Given the description of an element on the screen output the (x, y) to click on. 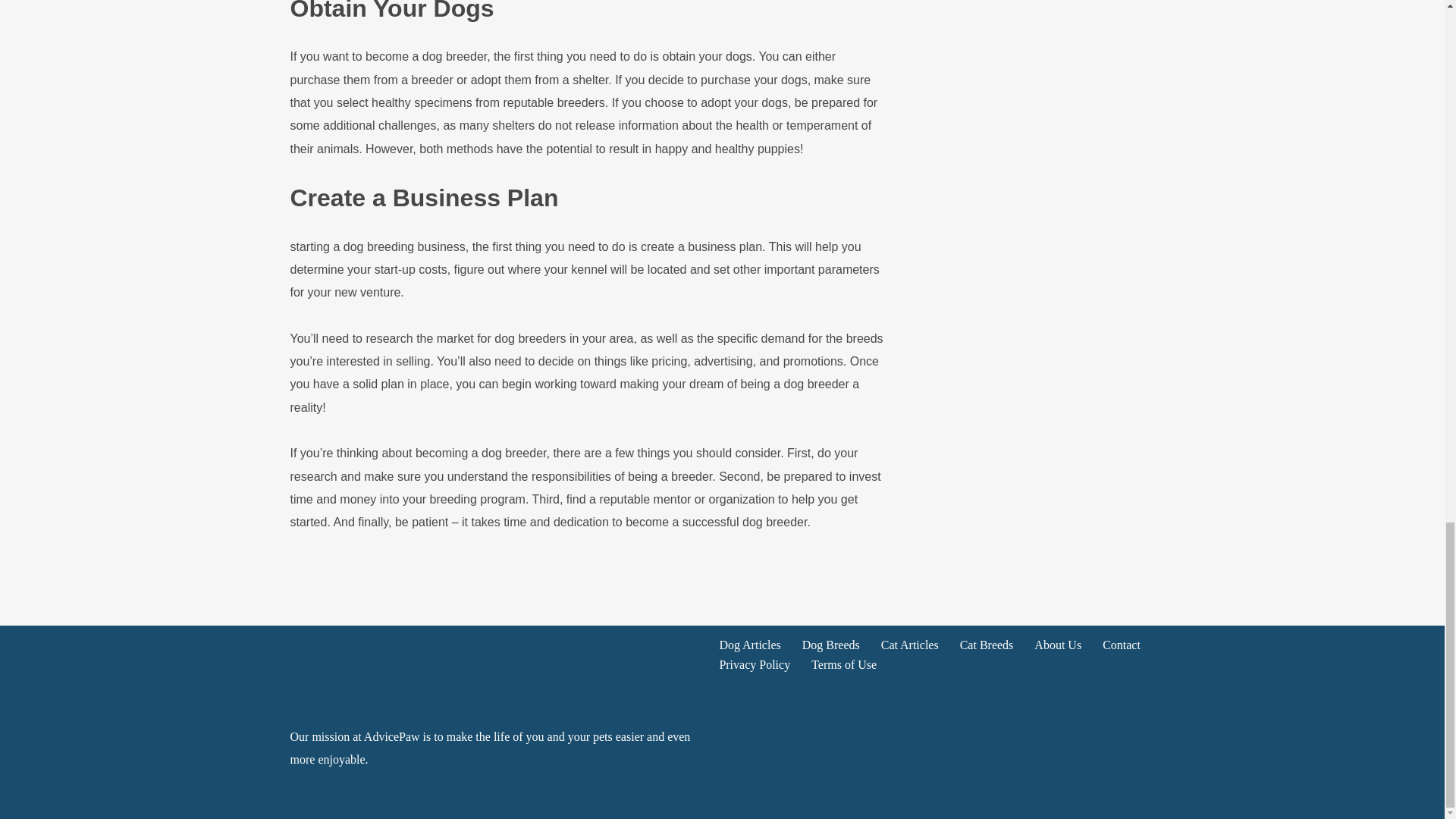
Neve (302, 797)
Terms of Use (843, 664)
Dog Breeds (831, 644)
Contact (1121, 644)
Cat Breeds (986, 644)
Cat Articles (909, 644)
WordPress (410, 797)
Privacy Policy (754, 664)
Dog Articles (749, 644)
About Us (1057, 644)
